Given the description of an element on the screen output the (x, y) to click on. 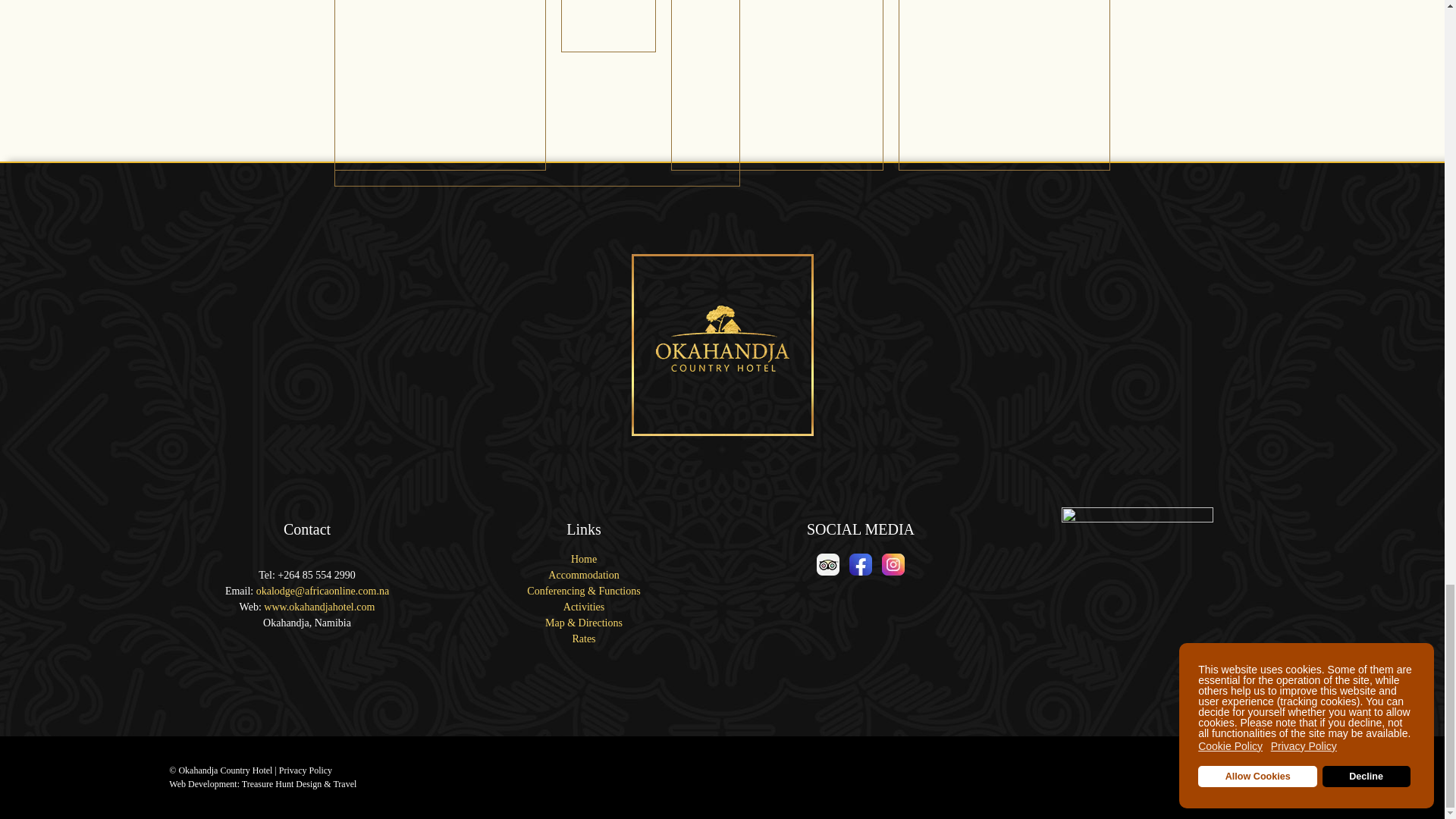
Rates (583, 638)
Activities (583, 606)
www.okahandjahotel.com (318, 606)
Accommodation (583, 574)
Home (583, 559)
Privacy Policy (305, 769)
